Given the description of an element on the screen output the (x, y) to click on. 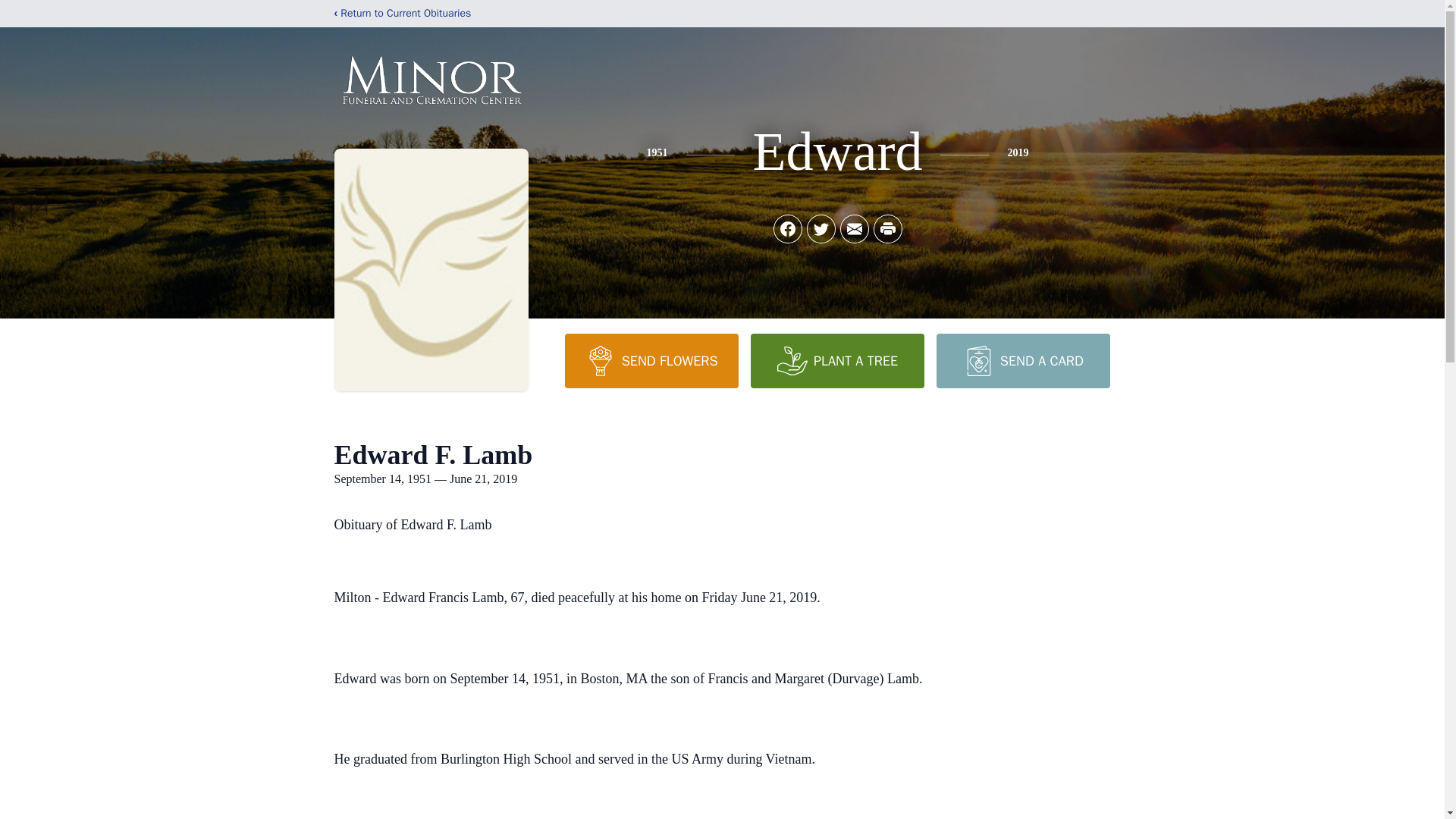
PLANT A TREE (837, 360)
SEND A CARD (1022, 360)
SEND FLOWERS (651, 360)
